Given the description of an element on the screen output the (x, y) to click on. 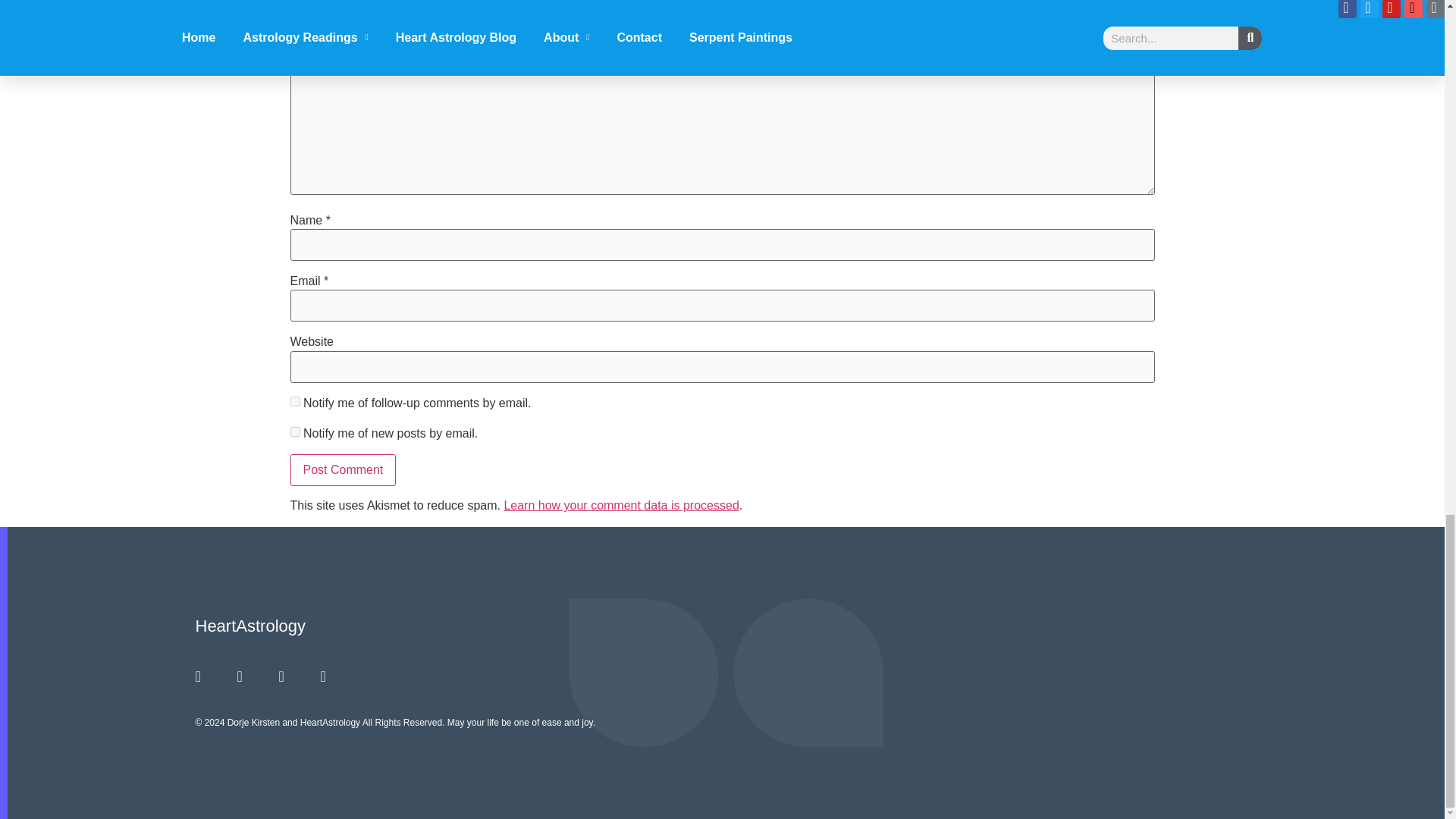
subscribe (294, 431)
subscribe (294, 401)
Post Comment (342, 470)
